Given the description of an element on the screen output the (x, y) to click on. 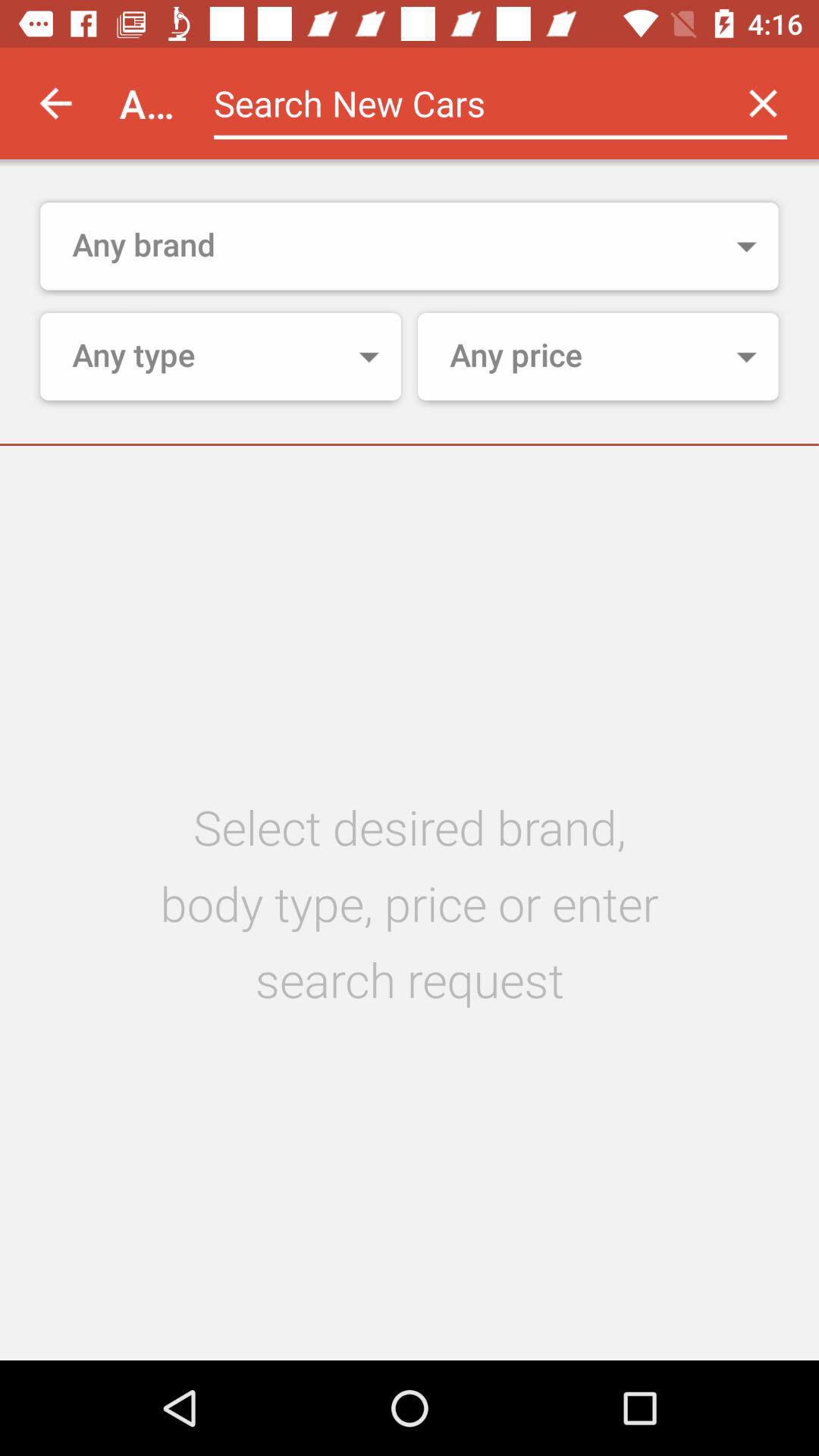
tap the app next to the autoportal (460, 103)
